Given the description of an element on the screen output the (x, y) to click on. 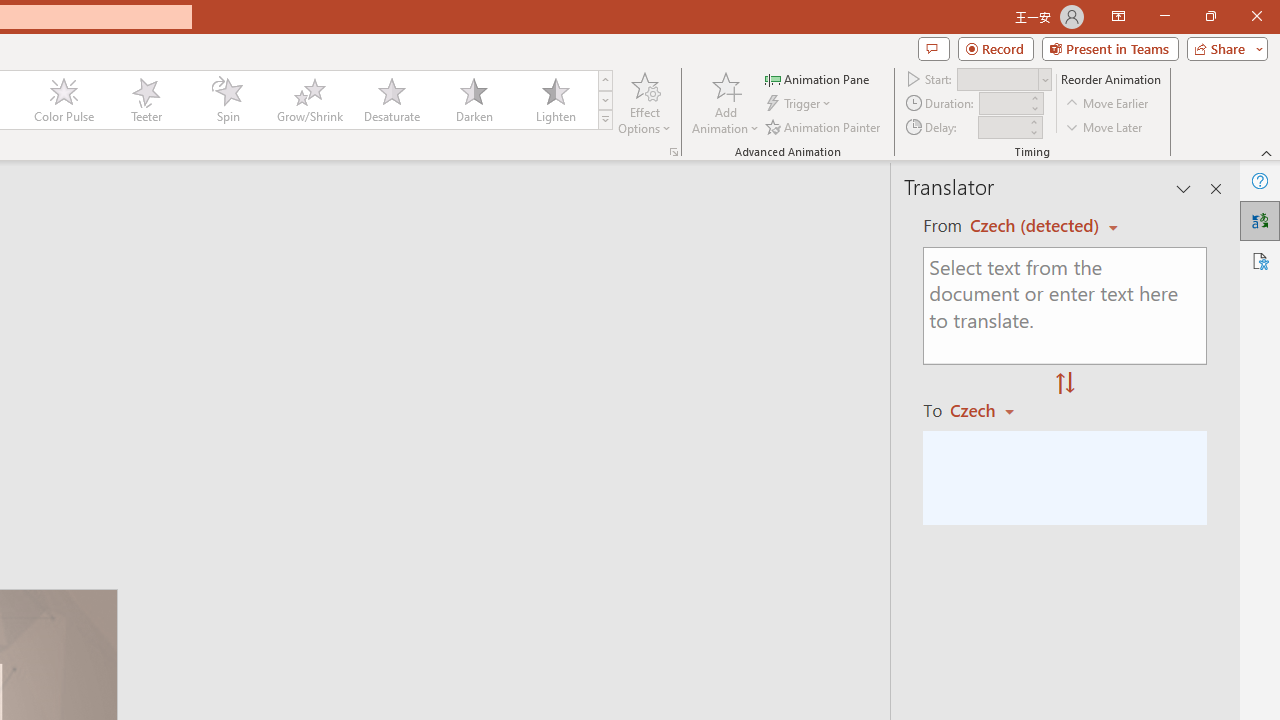
Darken (473, 100)
Spin (227, 100)
Animation Duration (1003, 103)
Czech (991, 409)
Color Pulse (63, 100)
Animation Painter (824, 126)
Effect Options (644, 102)
